Given the description of an element on the screen output the (x, y) to click on. 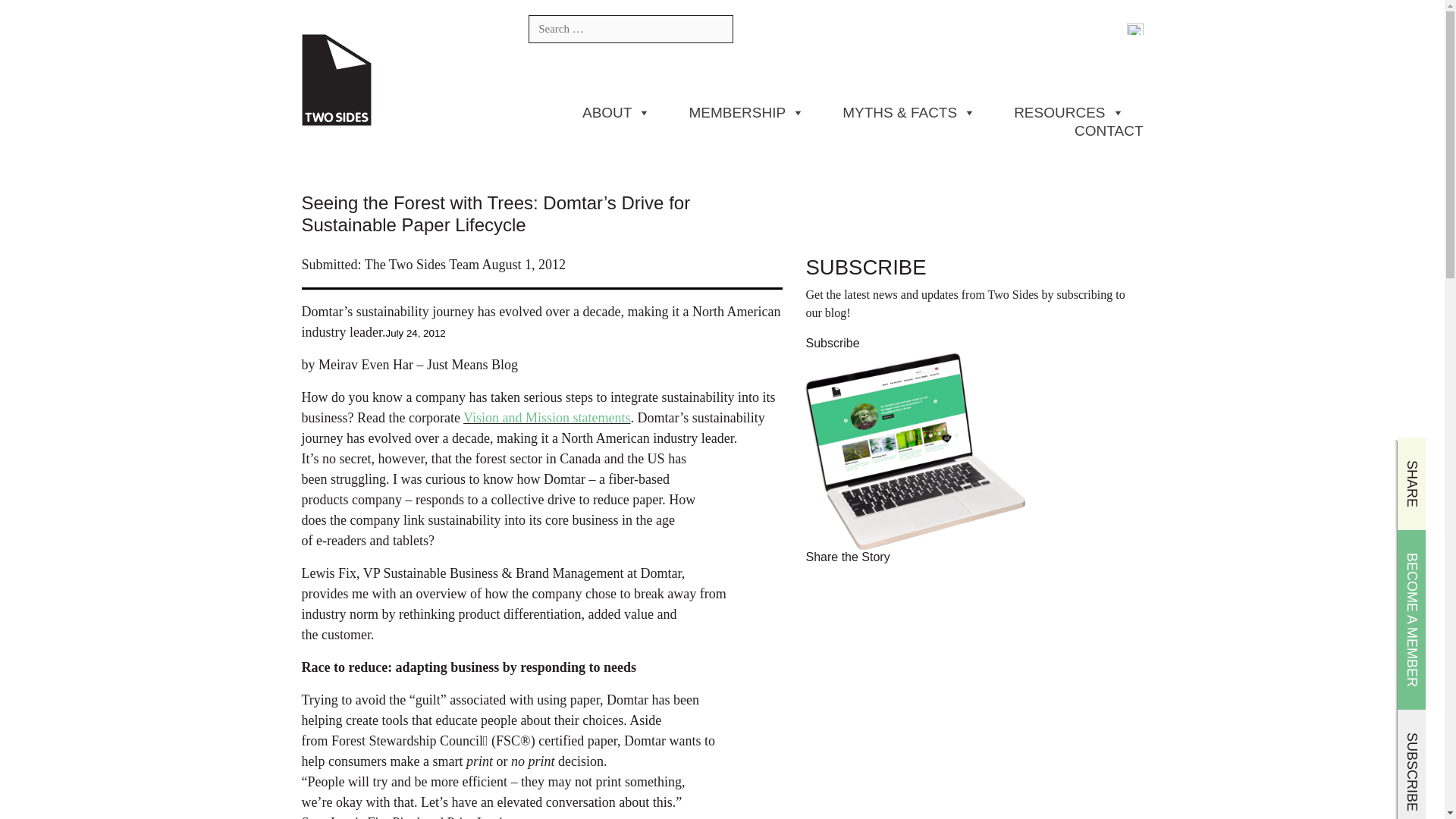
ABOUT (616, 112)
MEMBERSHIP (746, 112)
